Given the description of an element on the screen output the (x, y) to click on. 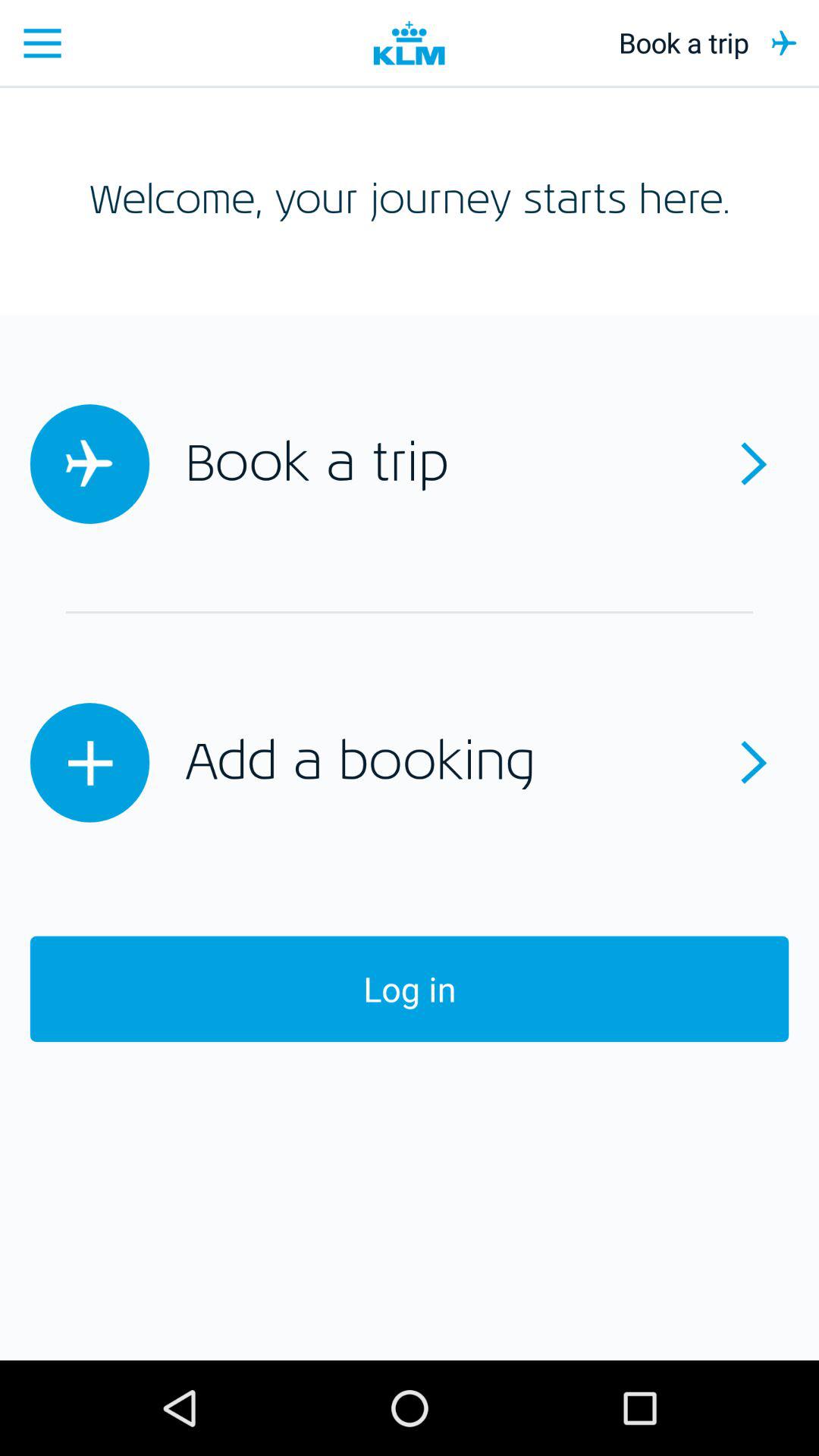
swipe to log in icon (409, 988)
